Given the description of an element on the screen output the (x, y) to click on. 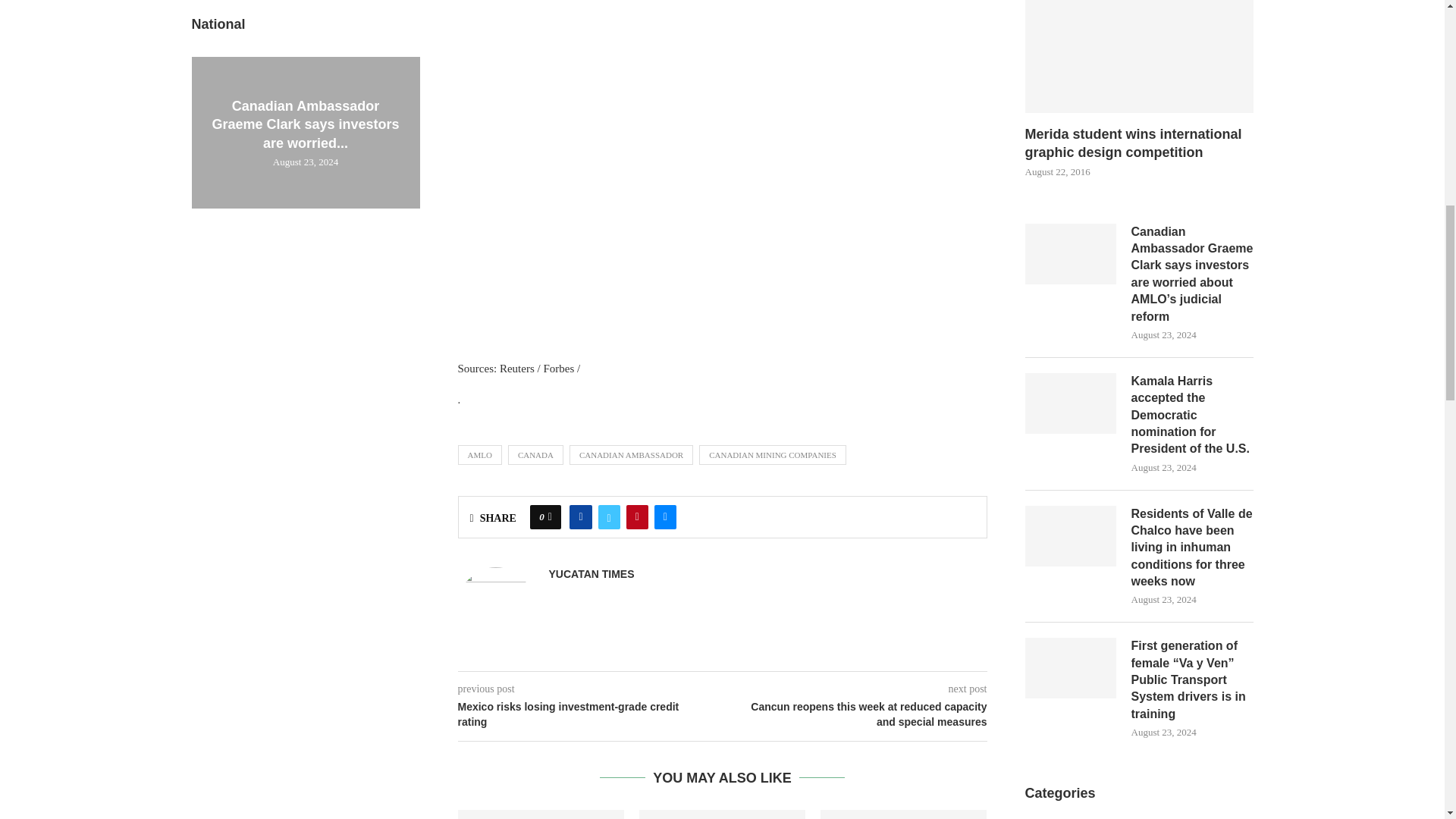
Author Yucatan Times (591, 574)
